Given the description of an element on the screen output the (x, y) to click on. 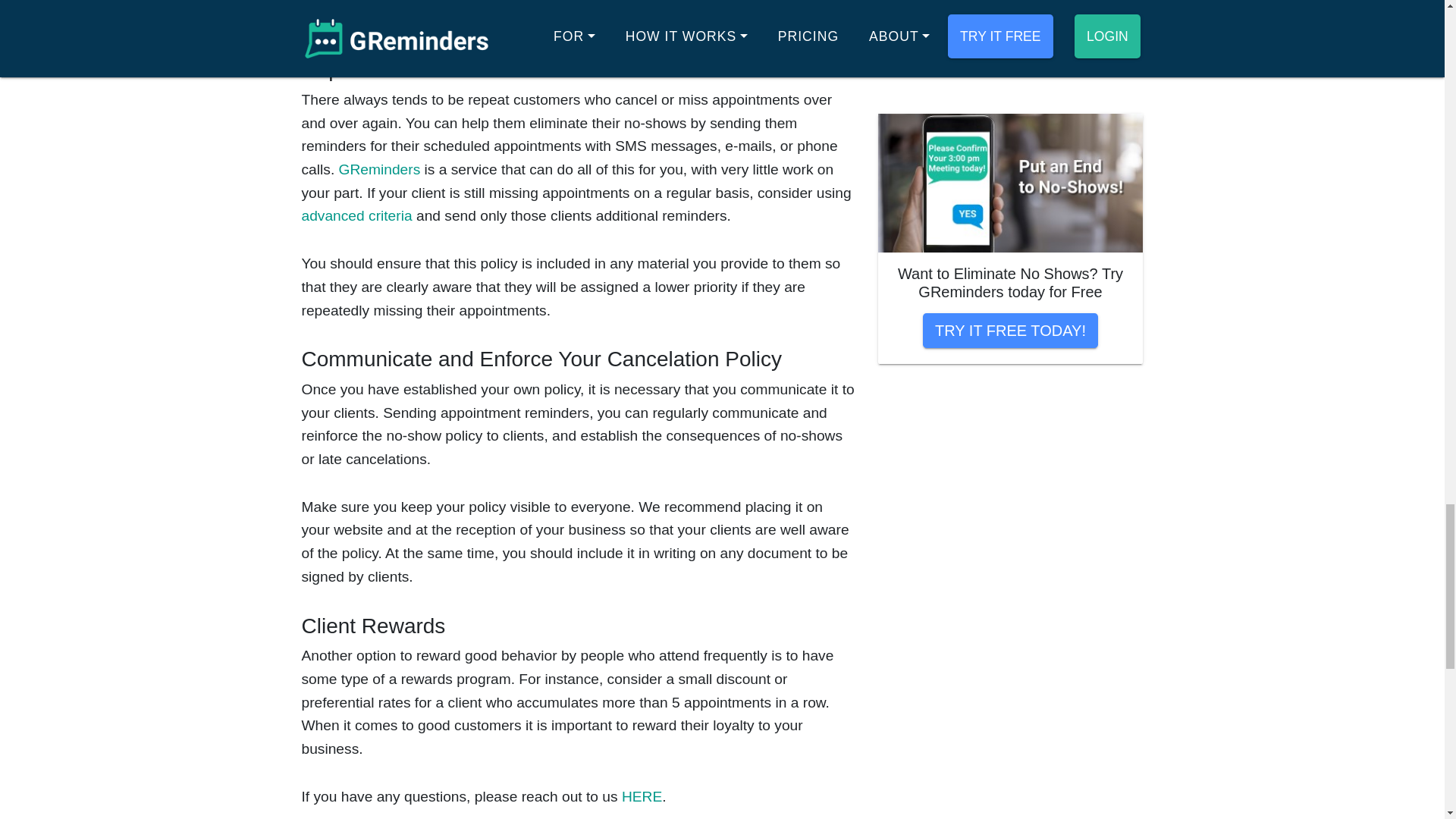
GReminders (379, 169)
